Given the description of an element on the screen output the (x, y) to click on. 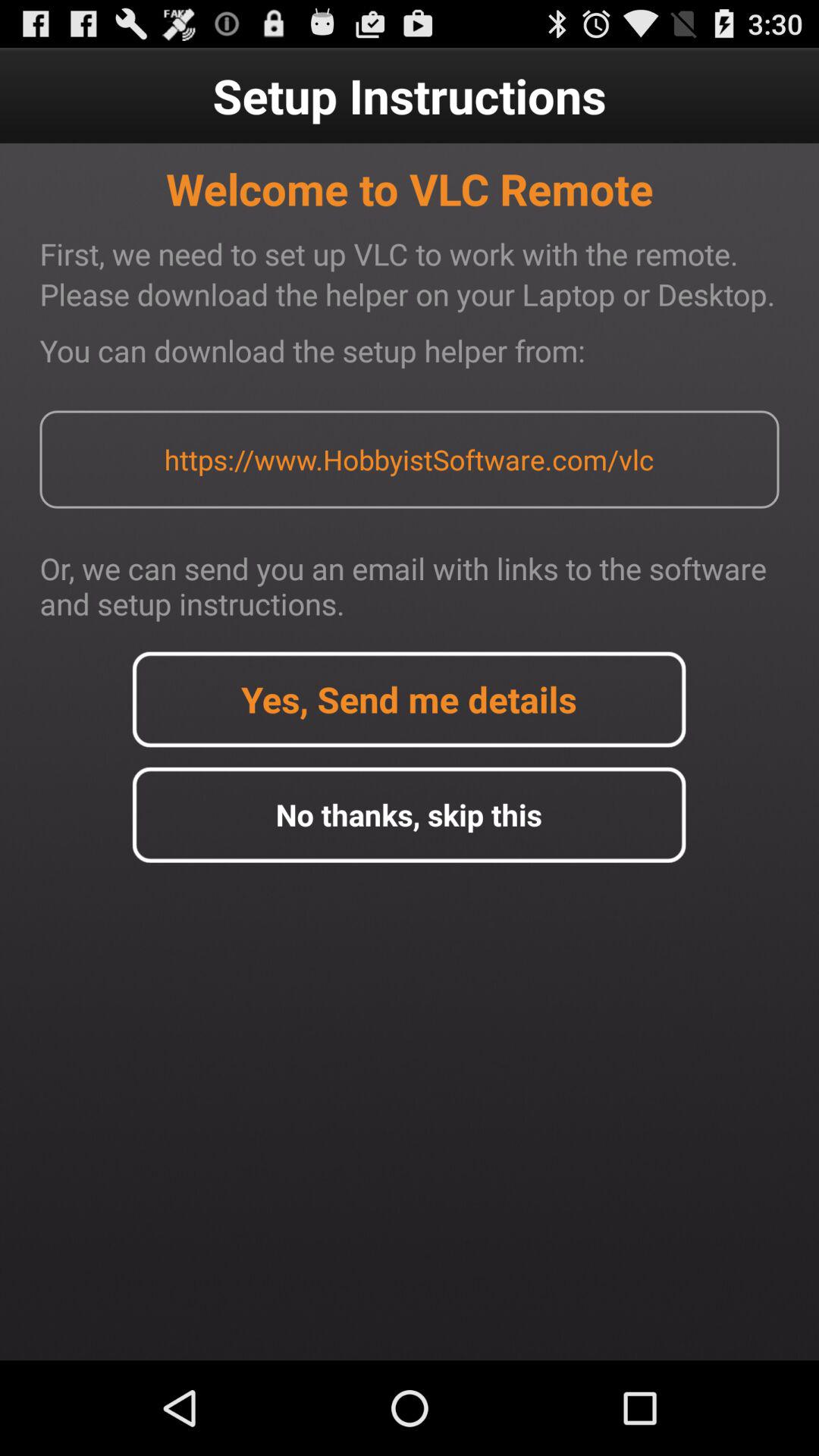
yes (408, 699)
